Given the description of an element on the screen output the (x, y) to click on. 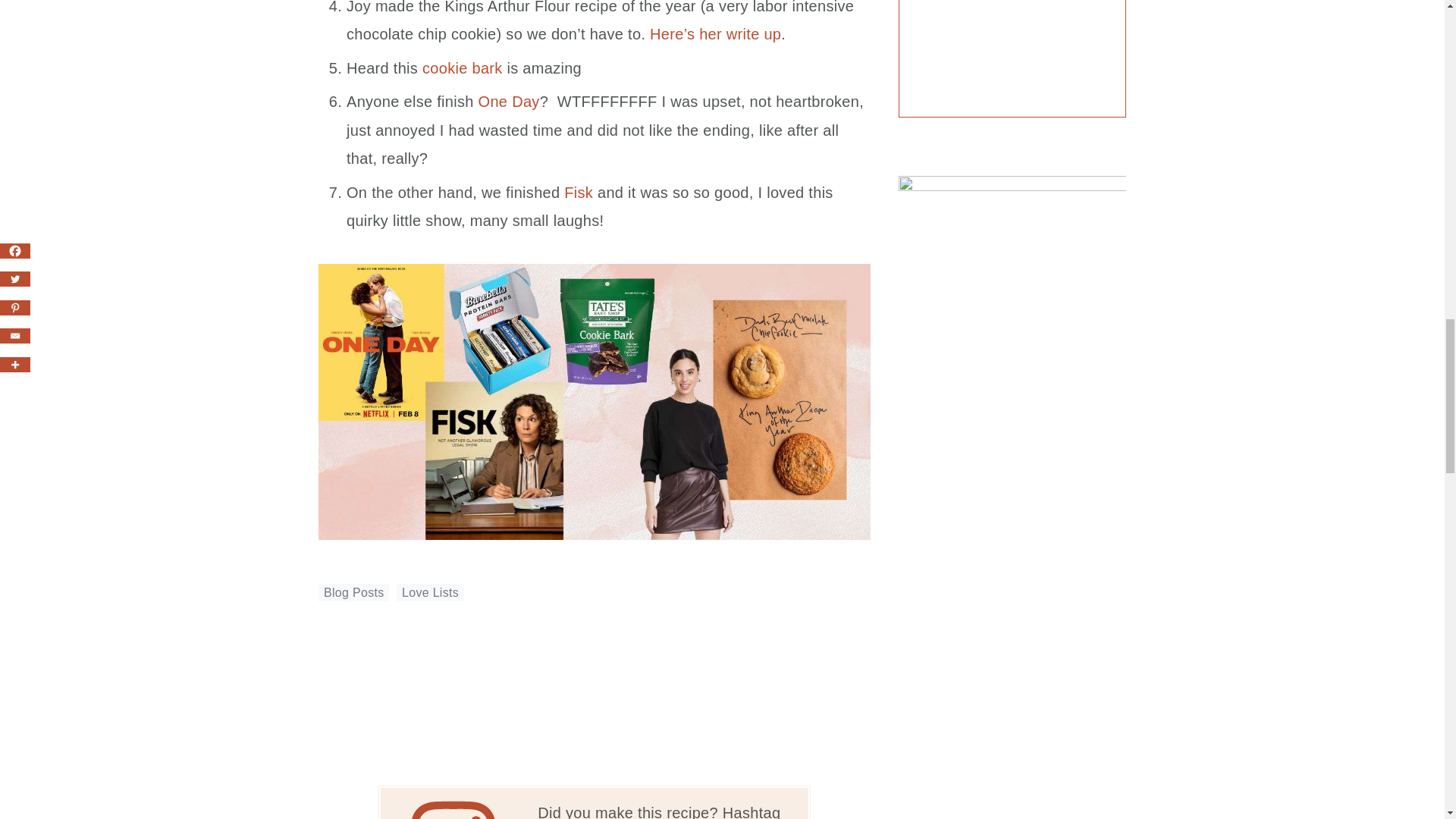
One Day (509, 101)
Fisk (578, 191)
cookie bark (462, 67)
